Given the description of an element on the screen output the (x, y) to click on. 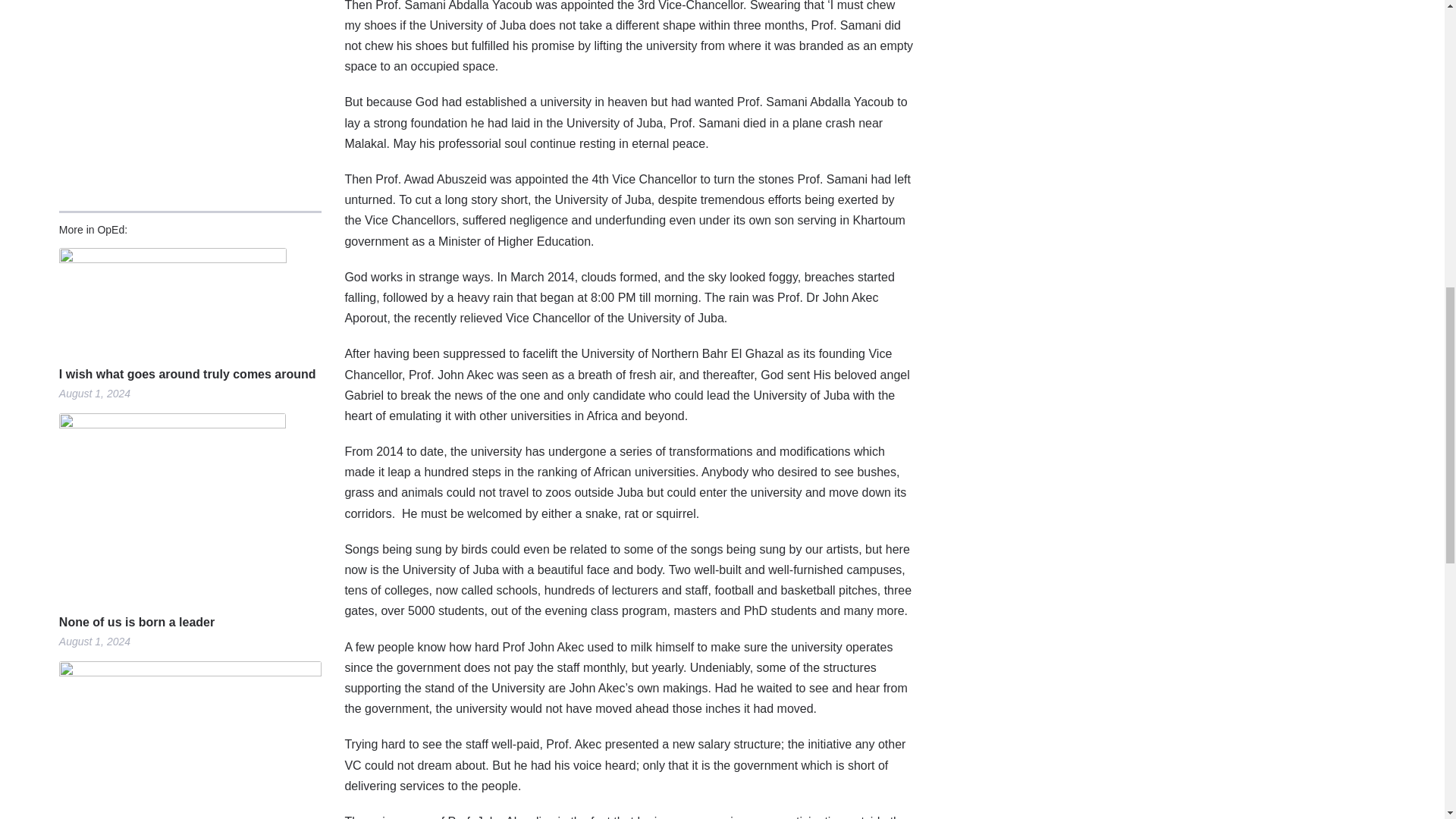
Permalink to None of us is born a leader (190, 622)
Permalink to None of us is born a leader (190, 507)
